Given the description of an element on the screen output the (x, y) to click on. 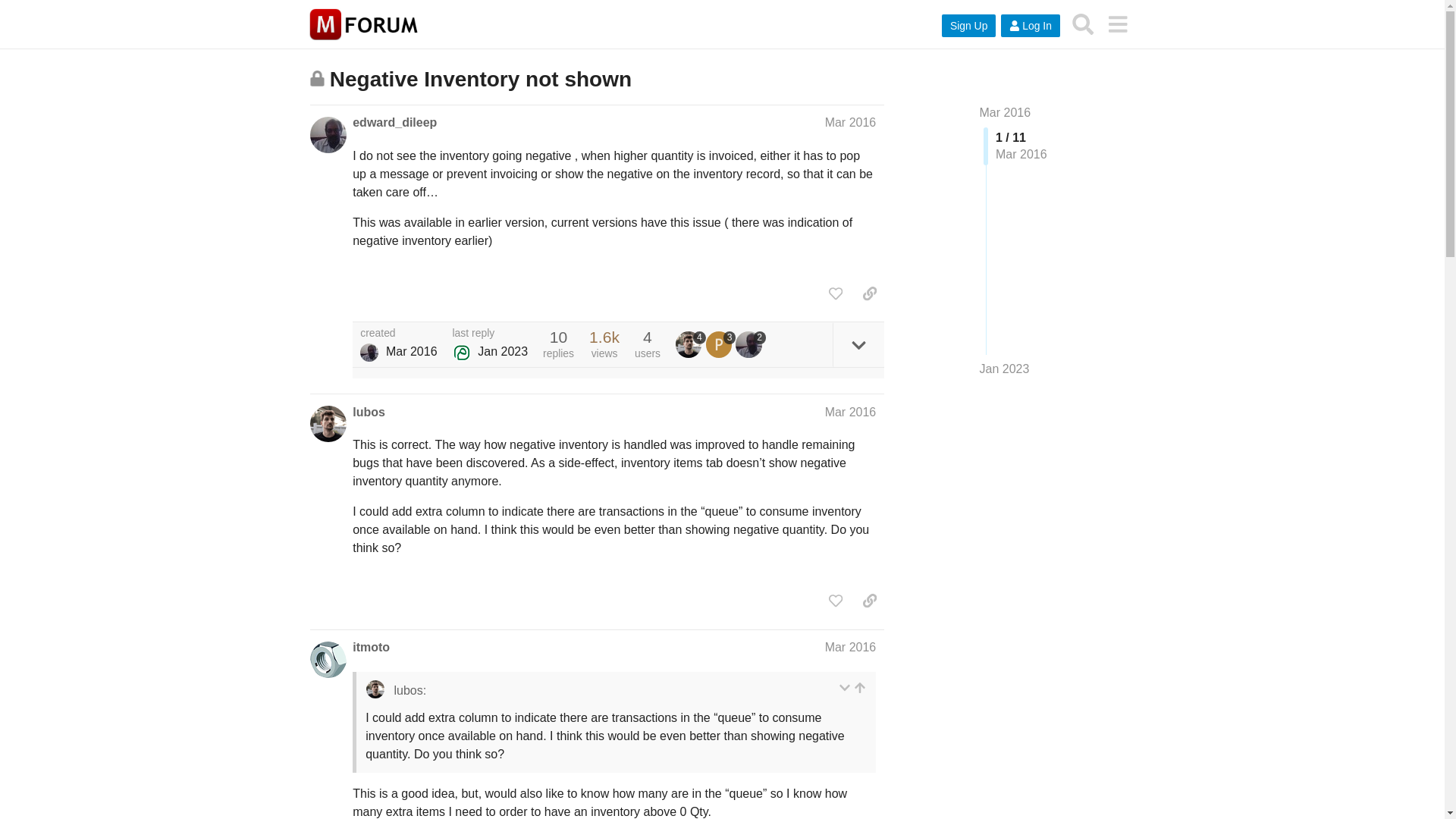
Jan 2023 (1004, 369)
Post date (850, 122)
Negative Inventory not shown (480, 78)
This topic is closed; it no longer accepts new replies (316, 78)
expand topic details (857, 344)
lubos (690, 344)
menu (1117, 23)
Edward Dileep (368, 352)
like this post (835, 293)
Jump to the first post (1004, 112)
Mar 2016 (850, 122)
itmoto (371, 647)
2 (750, 344)
Mar 2016 (850, 411)
4 (690, 344)
